Given the description of an element on the screen output the (x, y) to click on. 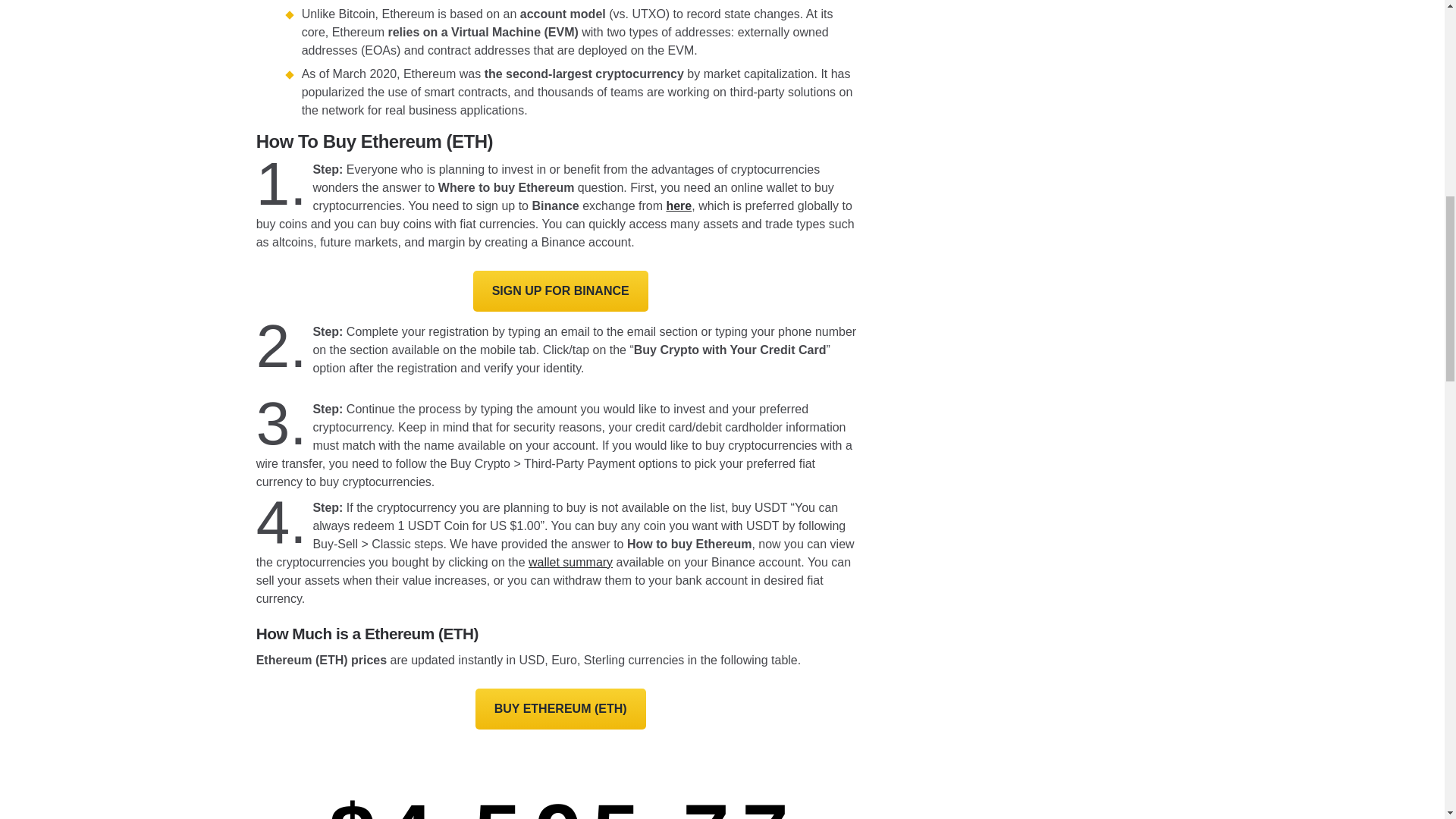
here (678, 205)
wallet summary (570, 562)
SIGN UP FOR BINANCE (560, 291)
